Given the description of an element on the screen output the (x, y) to click on. 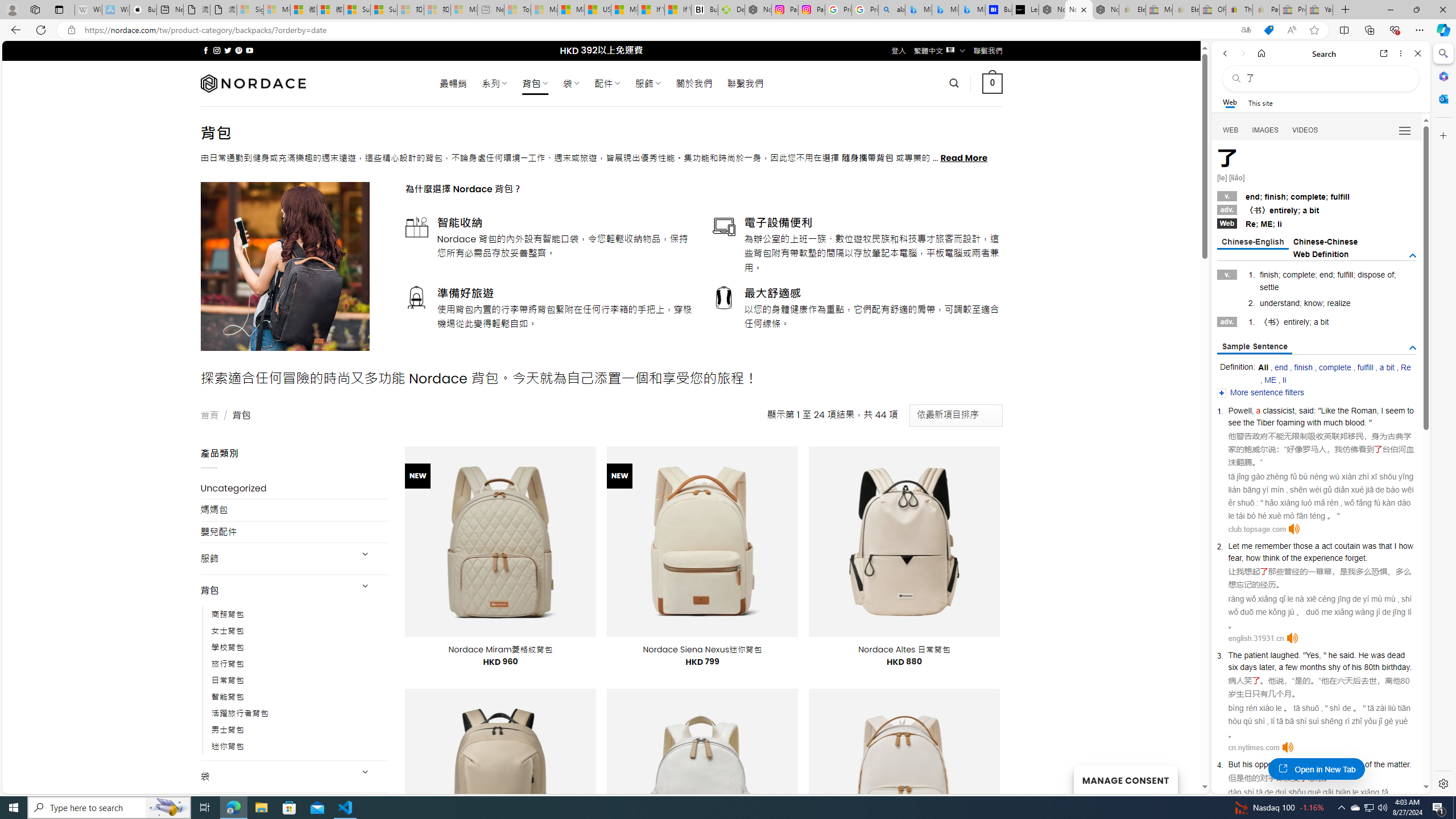
Follow on YouTube (249, 50)
Follow on Instagram (216, 50)
Follow on Pinterest (237, 50)
bit (1324, 321)
